Given the description of an element on the screen output the (x, y) to click on. 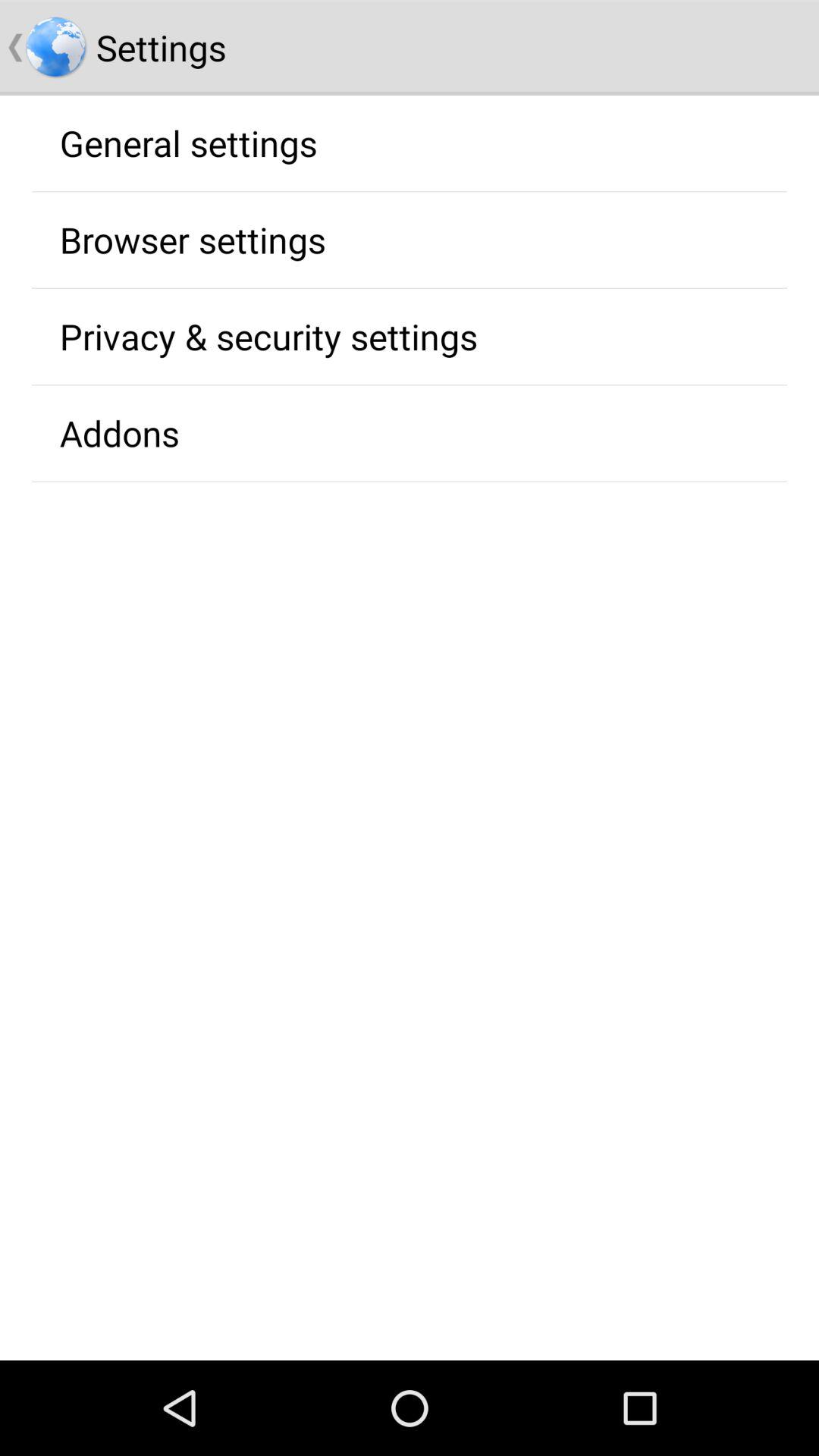
flip until browser settings icon (192, 239)
